Given the description of an element on the screen output the (x, y) to click on. 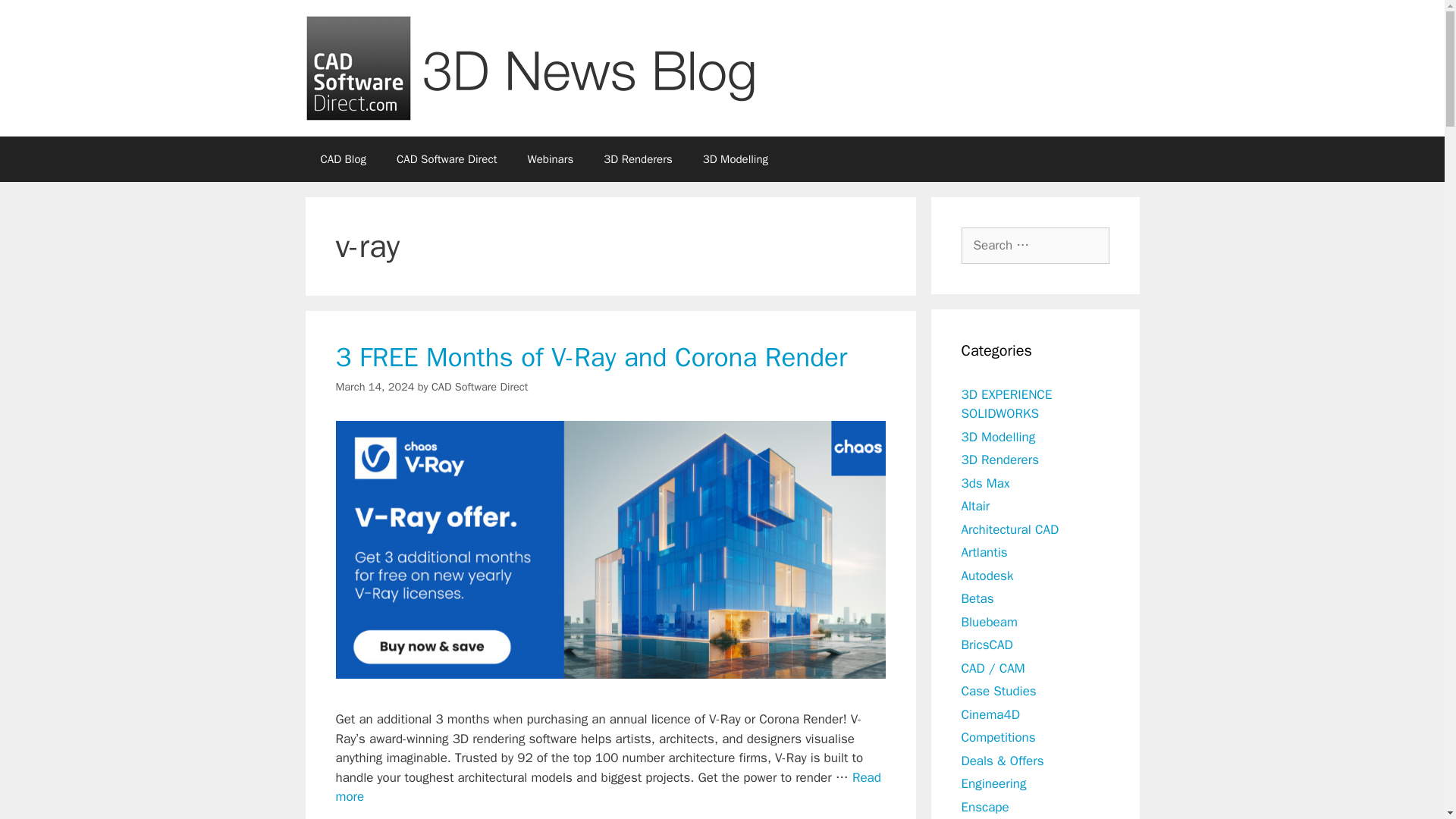
3 FREE Months of V-Ray and Corona Render (590, 356)
CAD Software Direct (446, 158)
Webinars (550, 158)
CAD Blog (342, 158)
Read more (607, 787)
3D Modelling (735, 158)
CAD Software Direct (478, 386)
Buy CAD Software (446, 158)
3D Renderers (637, 158)
3 FREE Months of V-Ray and Corona Render (607, 787)
View all posts by CAD Software Direct (478, 386)
